Given the description of an element on the screen output the (x, y) to click on. 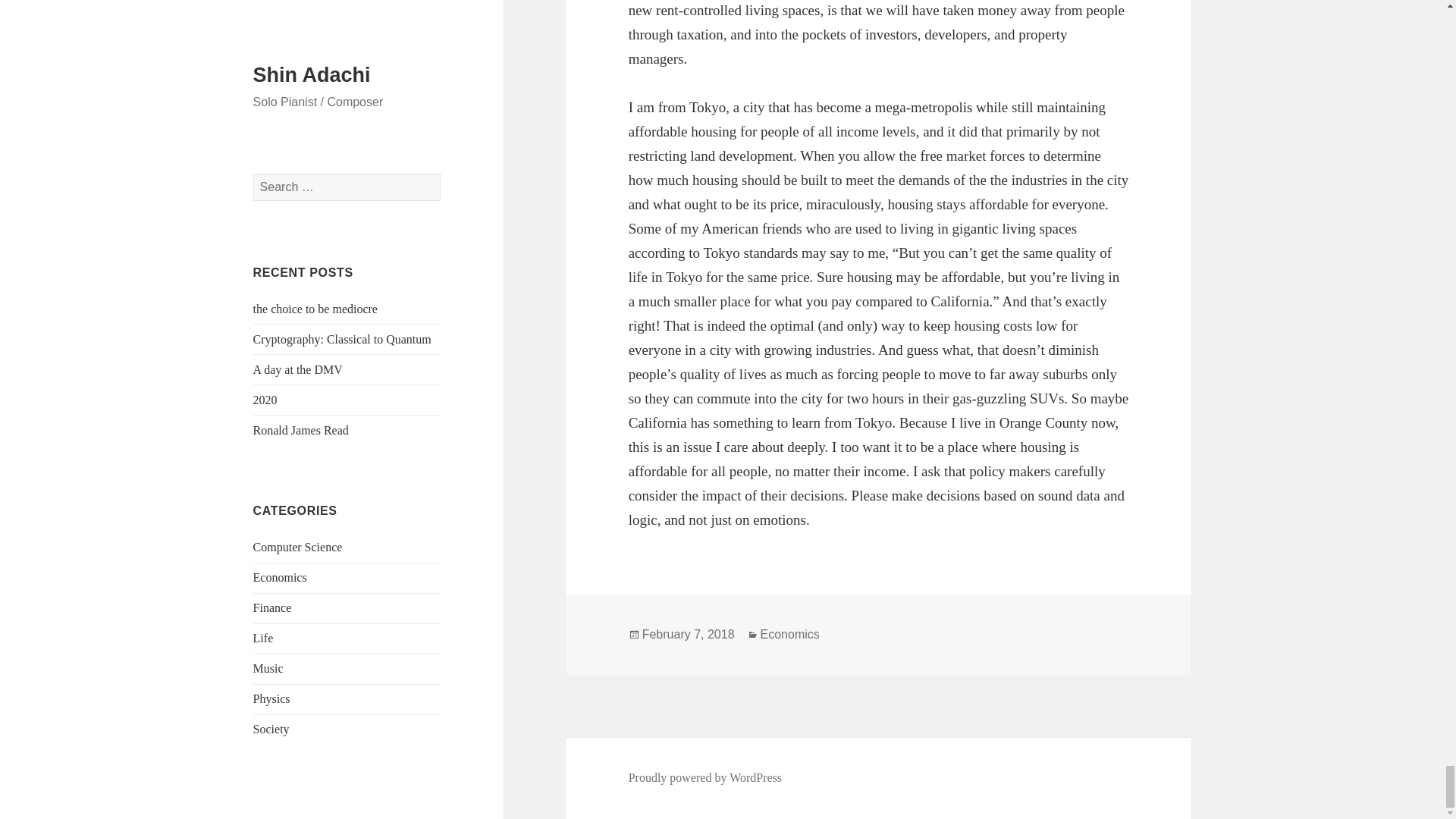
February 7, 2018 (688, 634)
Economics (789, 634)
Proudly powered by WordPress (704, 777)
